Given the description of an element on the screen output the (x, y) to click on. 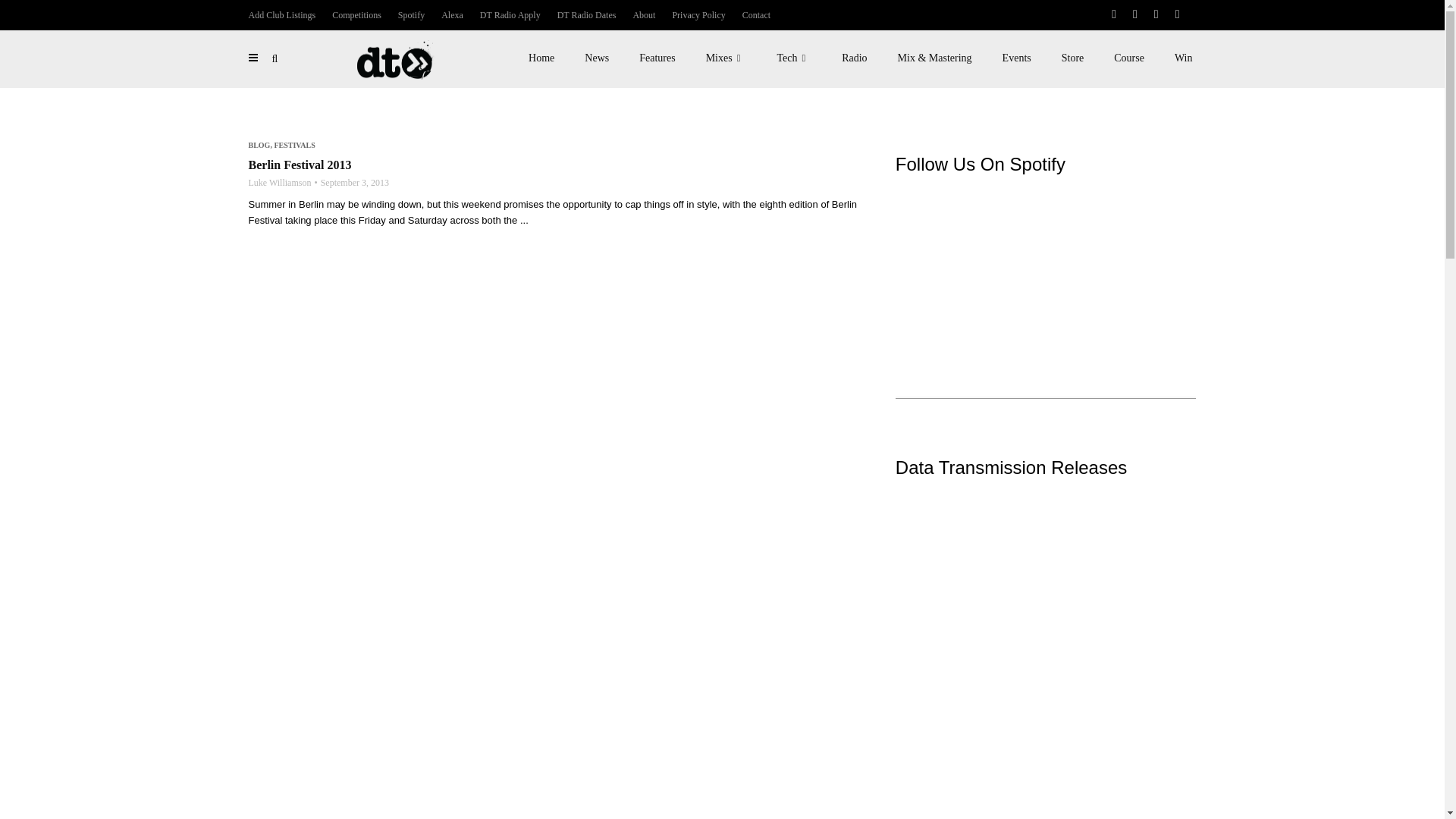
News (596, 57)
Features (657, 57)
Events (1016, 57)
Store (1072, 57)
Radio (854, 57)
Spotify Embed: New Music Friday (1045, 260)
Tech (794, 57)
Course (1128, 57)
Home (541, 57)
Mixes (725, 57)
